Given the description of an element on the screen output the (x, y) to click on. 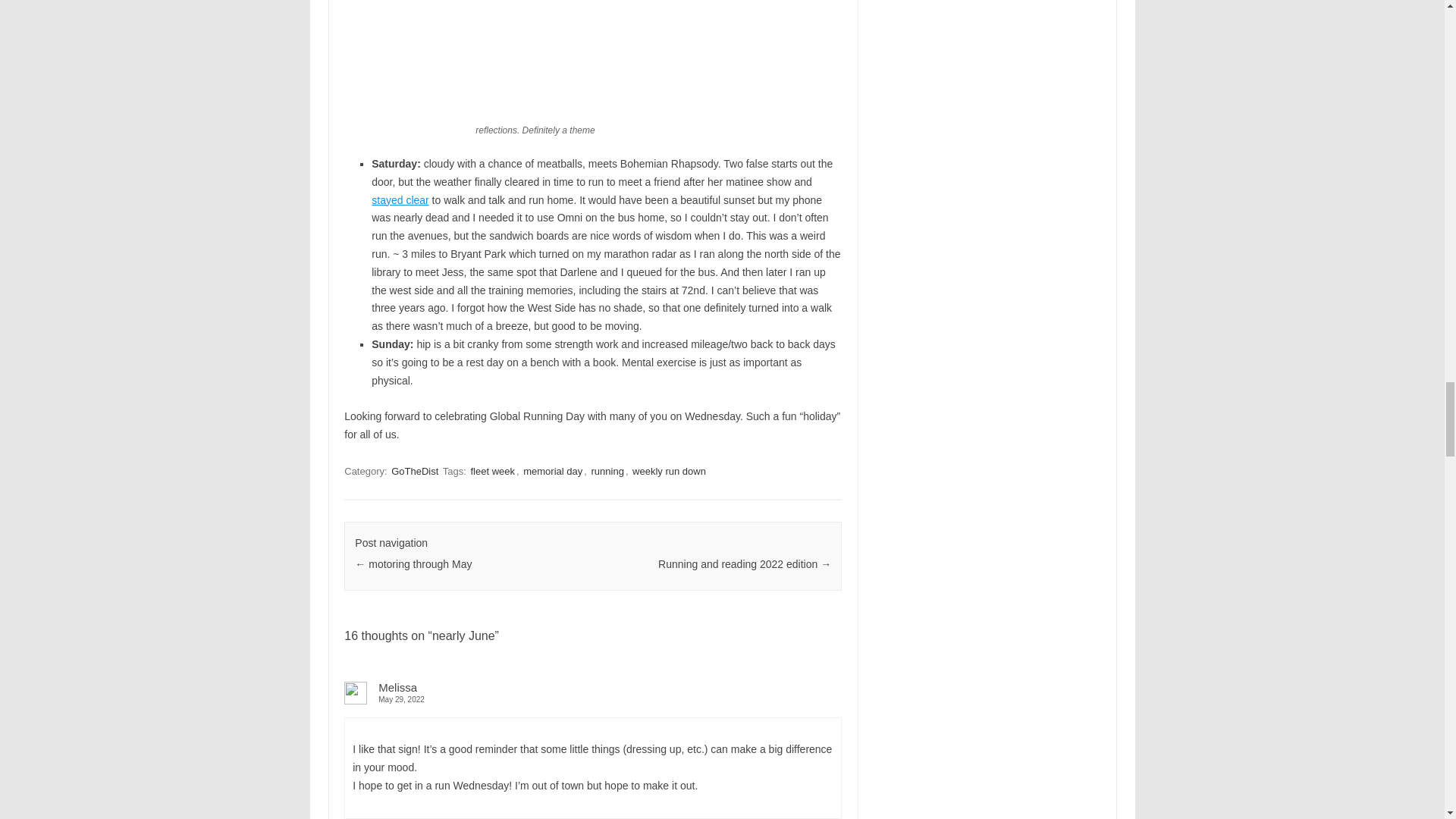
memorial day (552, 471)
running (607, 471)
May 29, 2022 (592, 698)
GoTheDist (414, 471)
weekly run down (668, 471)
fleet week (492, 471)
Melissa (397, 686)
stayed clear (399, 200)
